Given the description of an element on the screen output the (x, y) to click on. 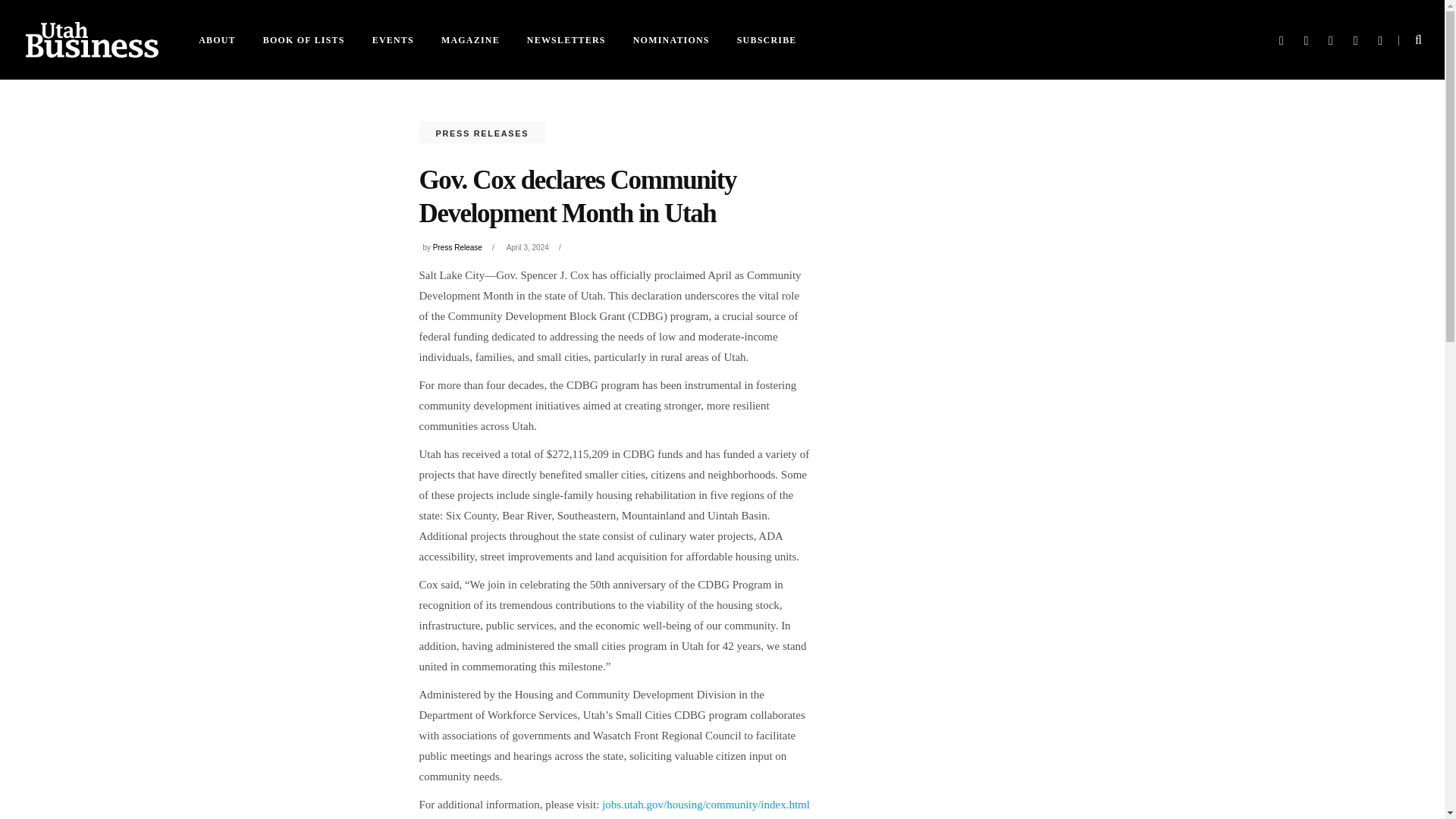
Press Release (456, 247)
BOOK OF LISTS (303, 39)
SUBSCRIBE (766, 39)
NEWSLETTERS (566, 39)
MAGAZINE (470, 39)
NOMINATIONS (671, 39)
April 3, 2024 (527, 247)
PRESS RELEASES (481, 133)
